Given the description of an element on the screen output the (x, y) to click on. 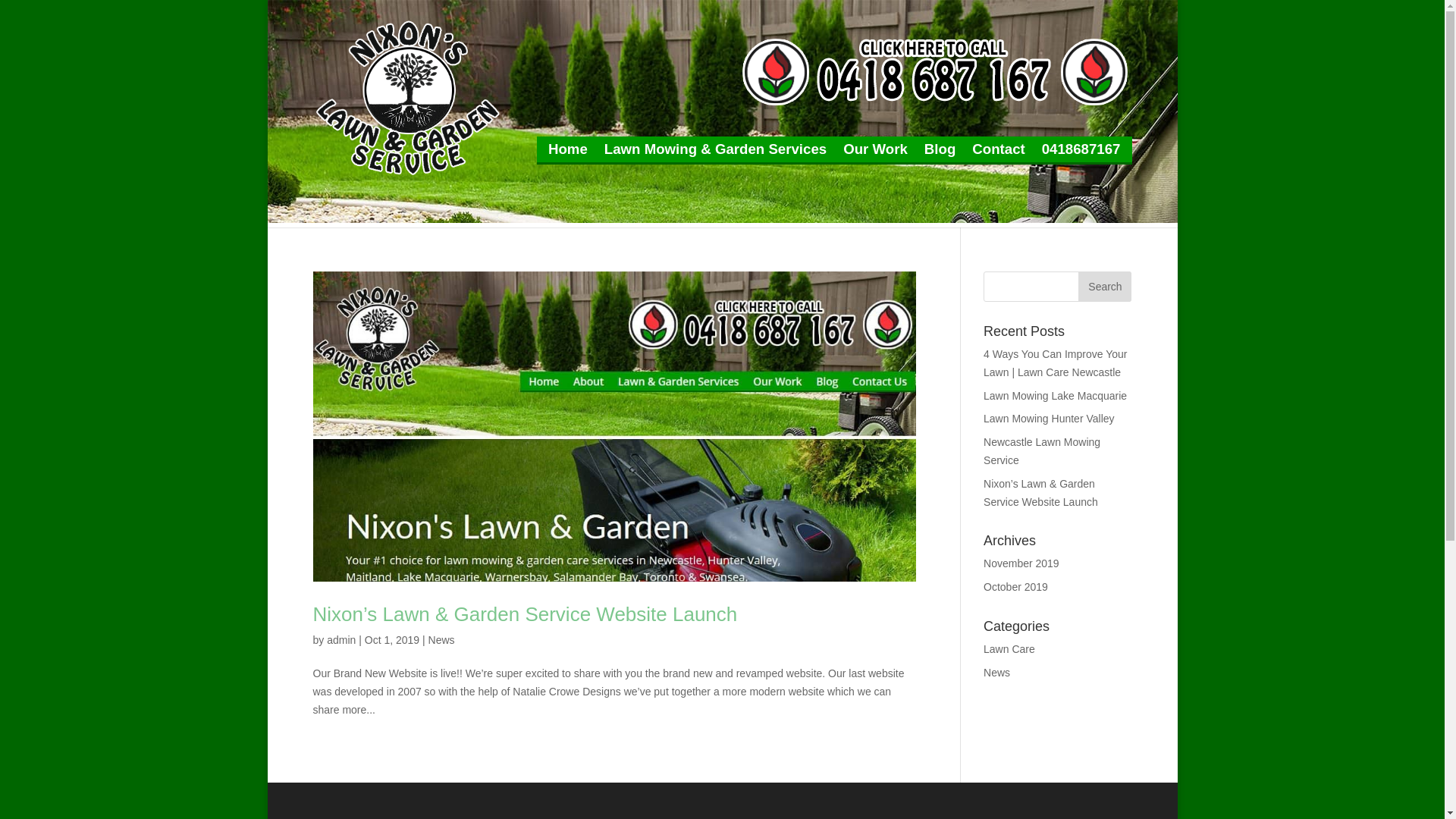
Contact Element type: text (998, 149)
Lawn Mowing & Garden Services Element type: text (715, 149)
News Element type: text (996, 672)
November 2019 Element type: text (1021, 563)
October 2019 Element type: text (1015, 586)
Lawn Mowing Hunter Valley Element type: text (1048, 418)
Newcastle Lawn Mowing Service Element type: text (1041, 451)
News Element type: text (441, 639)
Lawn Mowing Lake Macquarie Element type: text (1054, 395)
Lawn Care Element type: text (1009, 649)
admin Element type: text (340, 639)
Blog Element type: text (939, 149)
Home Element type: text (567, 149)
0418687167 Element type: text (1080, 149)
Search Element type: text (1104, 286)
Our Work Element type: text (875, 149)
4 Ways You Can Improve Your Lawn | Lawn Care Newcastle Element type: text (1054, 363)
